Given the description of an element on the screen output the (x, y) to click on. 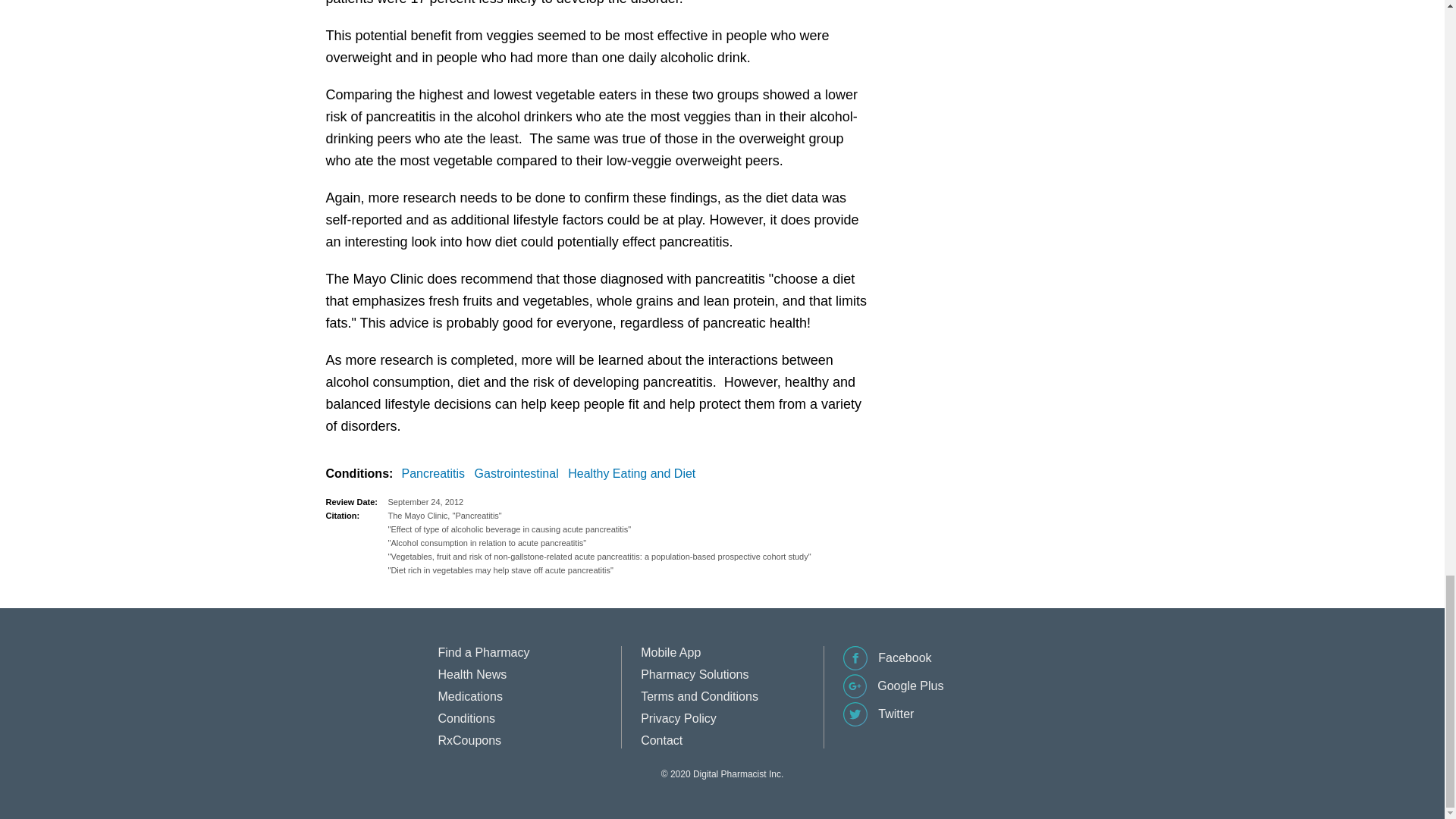
The Mayo Clinic, "Pancreatitis" (630, 515)
"Alcohol consumption in relation to acute pancreatitis" (630, 542)
Pancreatitis (436, 474)
Gastrointestinal (519, 474)
Healthy Eating and Diet (634, 474)
